Given the description of an element on the screen output the (x, y) to click on. 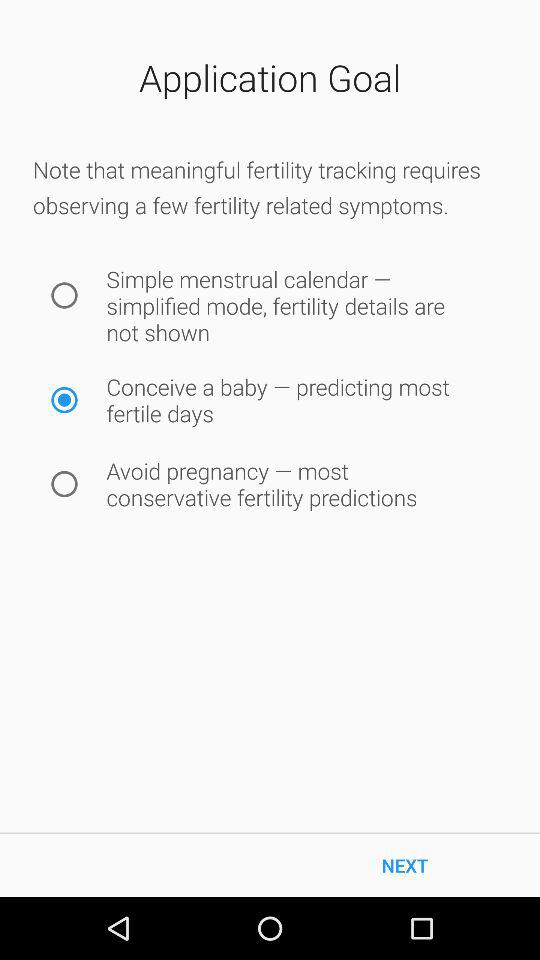
choose this application goal (64, 399)
